Given the description of an element on the screen output the (x, y) to click on. 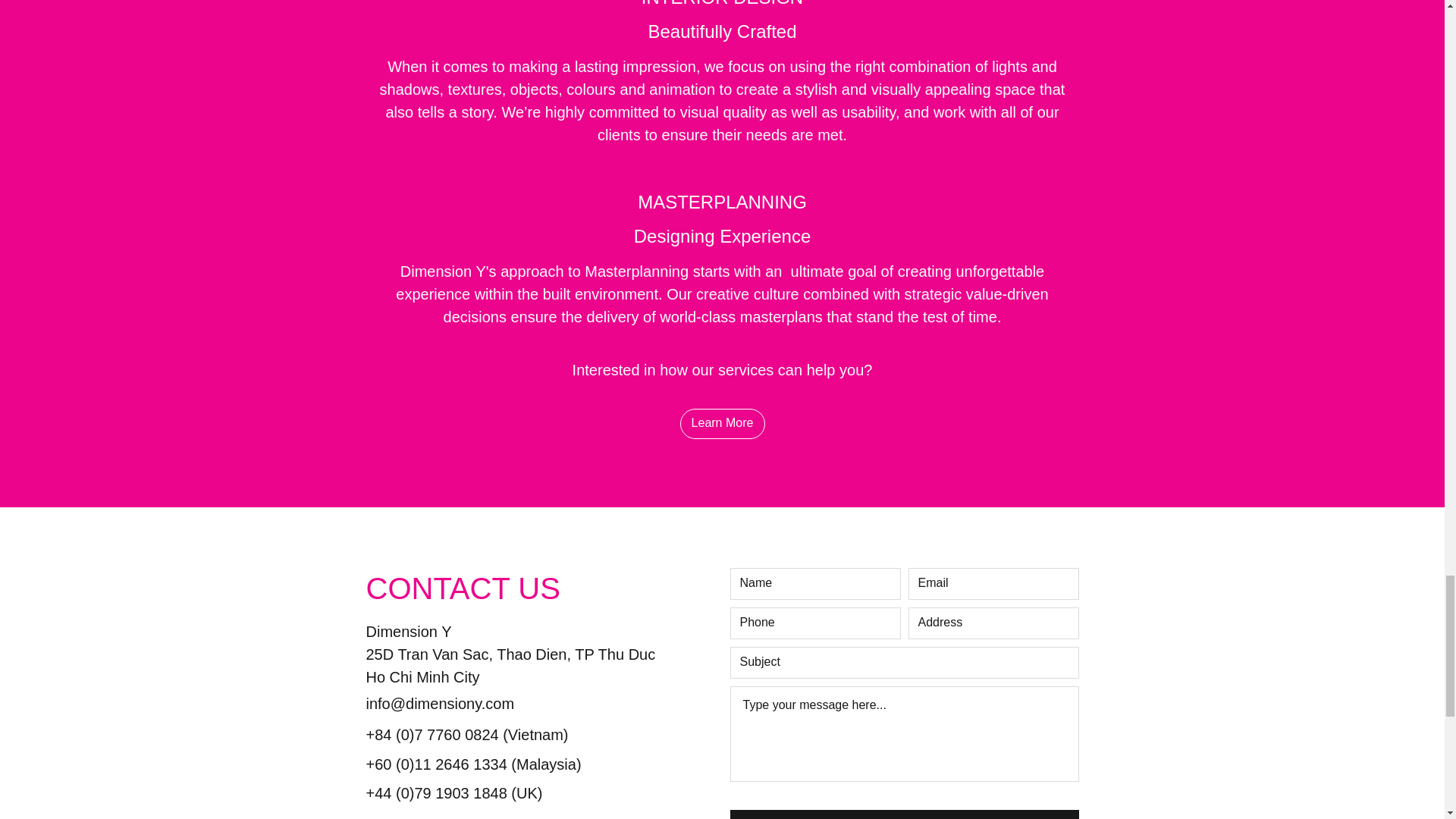
Submit (903, 814)
